Given the description of an element on the screen output the (x, y) to click on. 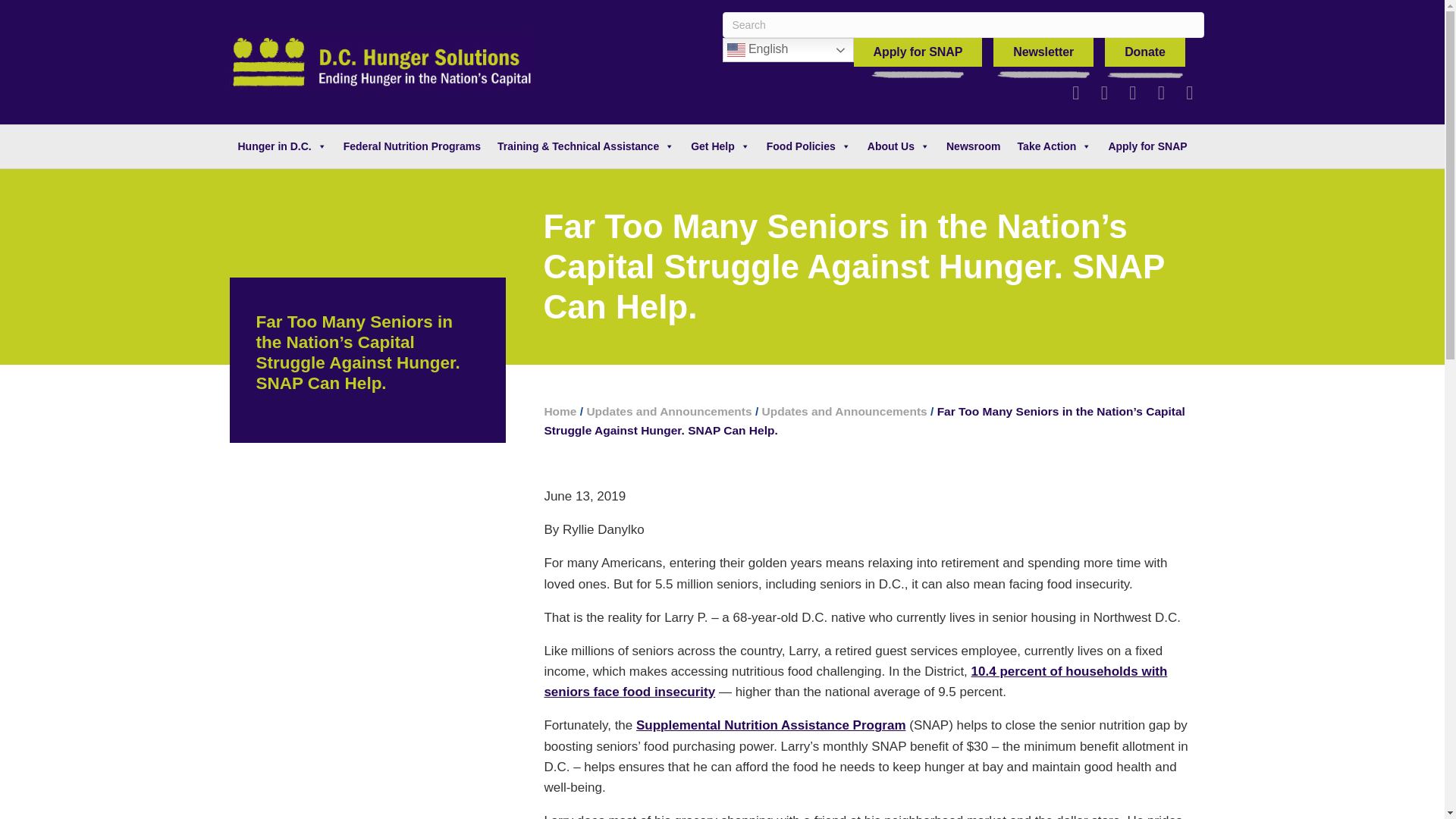
Go to Updates and Announcements. (668, 410)
Go to the Updates and Announcements category archives. (844, 410)
Type and press Enter to search. (963, 24)
Go to DC Hunger Solutions. (559, 410)
